Given the description of an element on the screen output the (x, y) to click on. 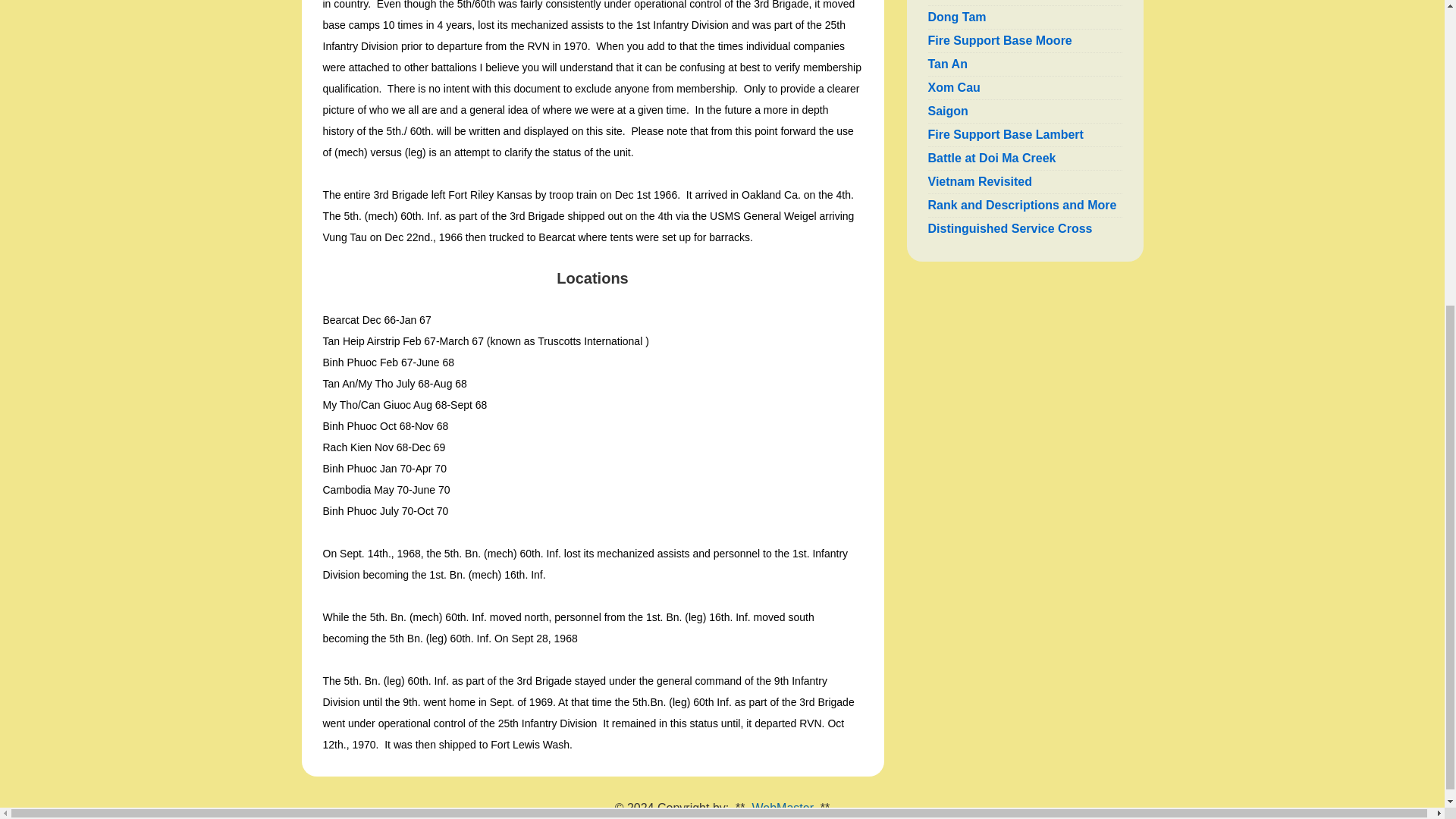
Vietnam Revisited (980, 181)
Tan An (948, 63)
Xom Cau (953, 87)
Rank and Descriptions and More (1022, 205)
Battle at Doi Ma Creek (992, 157)
Fire Support Base Lambert (1005, 133)
Fire Support Base Moore (999, 40)
Dong Tam (957, 16)
Saigon (948, 110)
